Given the description of an element on the screen output the (x, y) to click on. 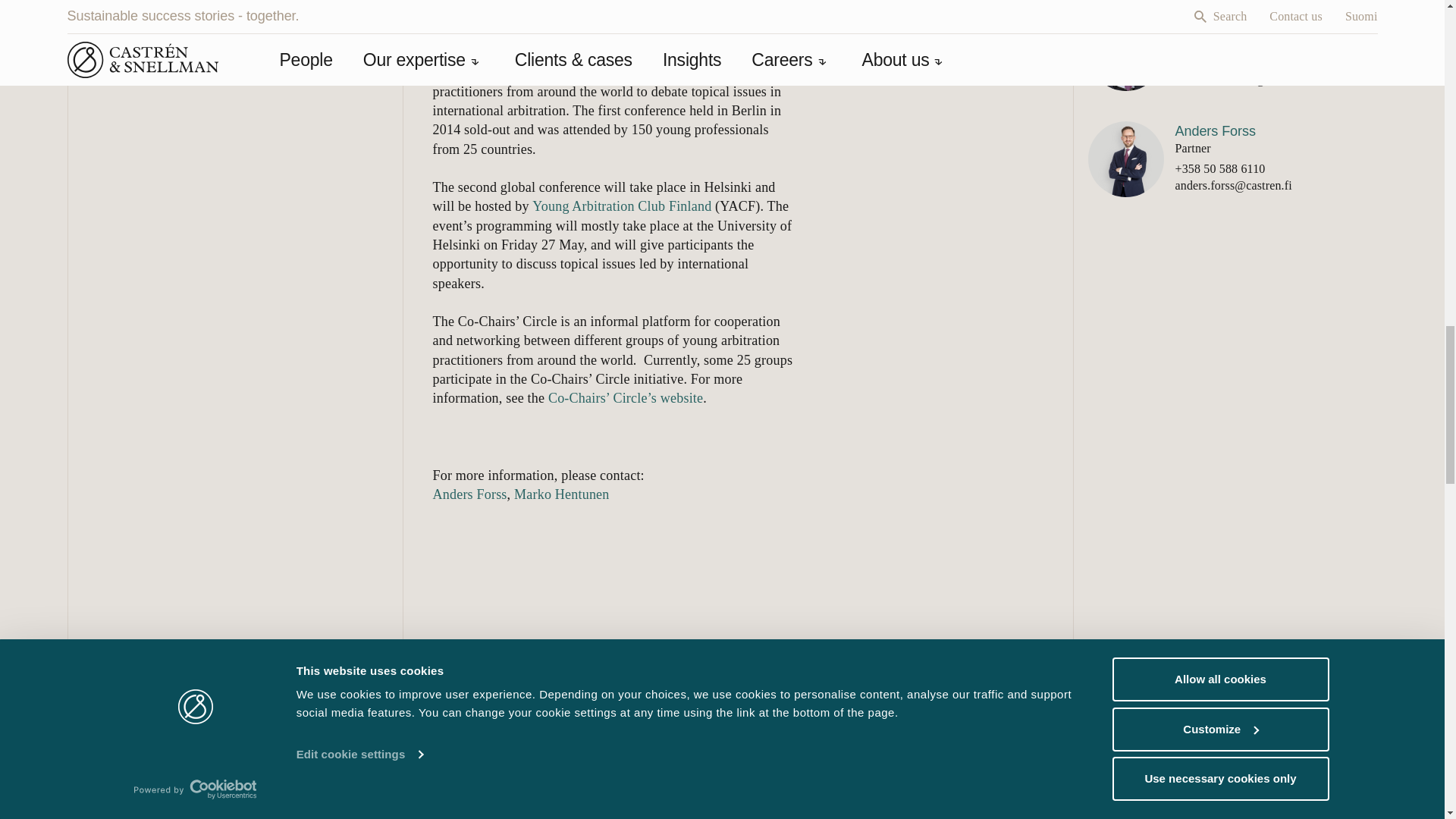
Anders Forss (469, 494)
CCC Global Conference (683, 52)
YACF (621, 206)
1.8.2024  (553, 773)
16.7.2024  (1224, 773)
Marko Hentunen (561, 494)
Co-Chairs' Circle website (625, 397)
